Given the description of an element on the screen output the (x, y) to click on. 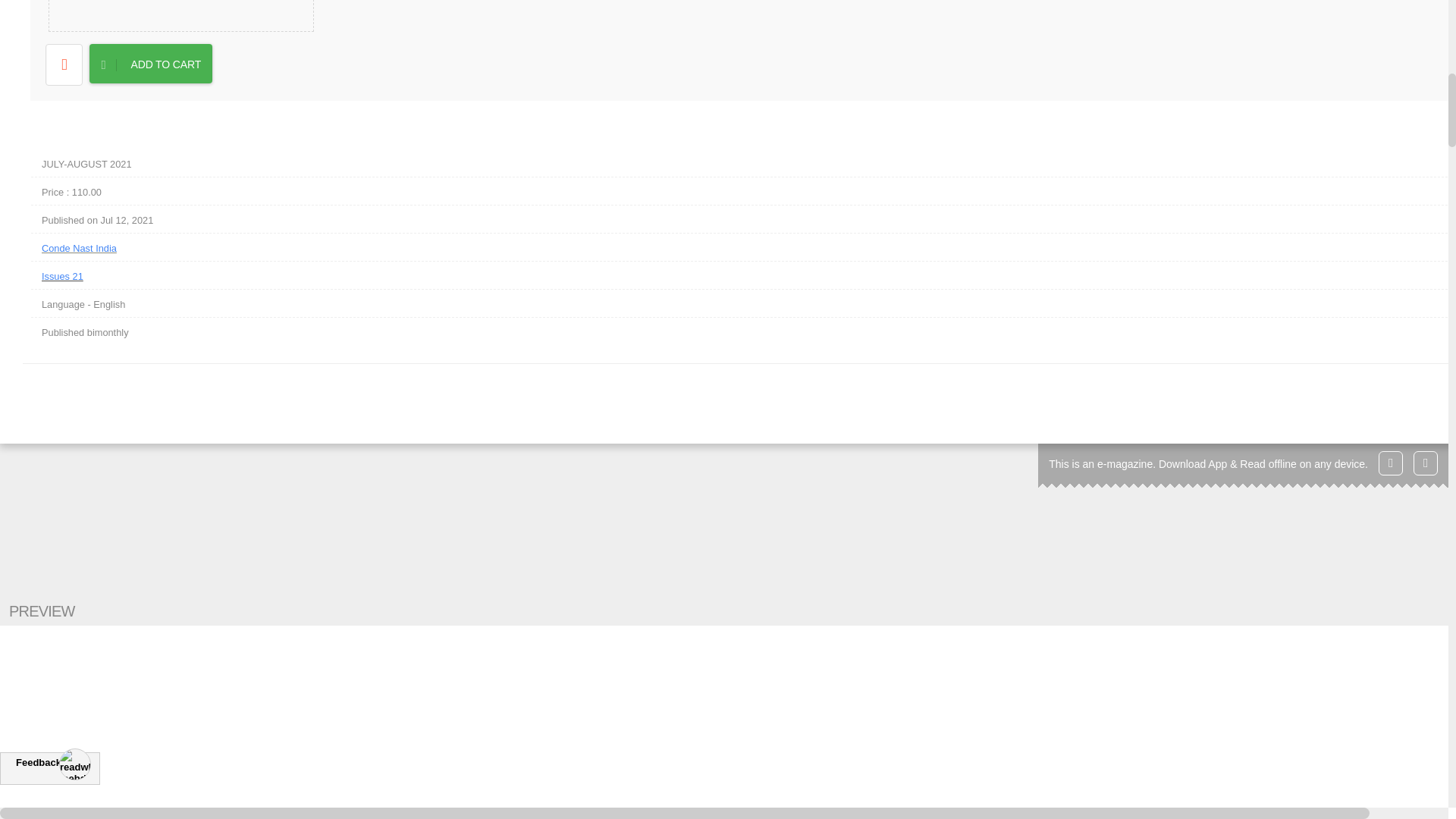
Readwhere ios app (1390, 463)
Conde Nast India (749, 247)
Readwhere android app (1425, 463)
ADD TO CART (150, 64)
Issues 21 (749, 274)
